Given the description of an element on the screen output the (x, y) to click on. 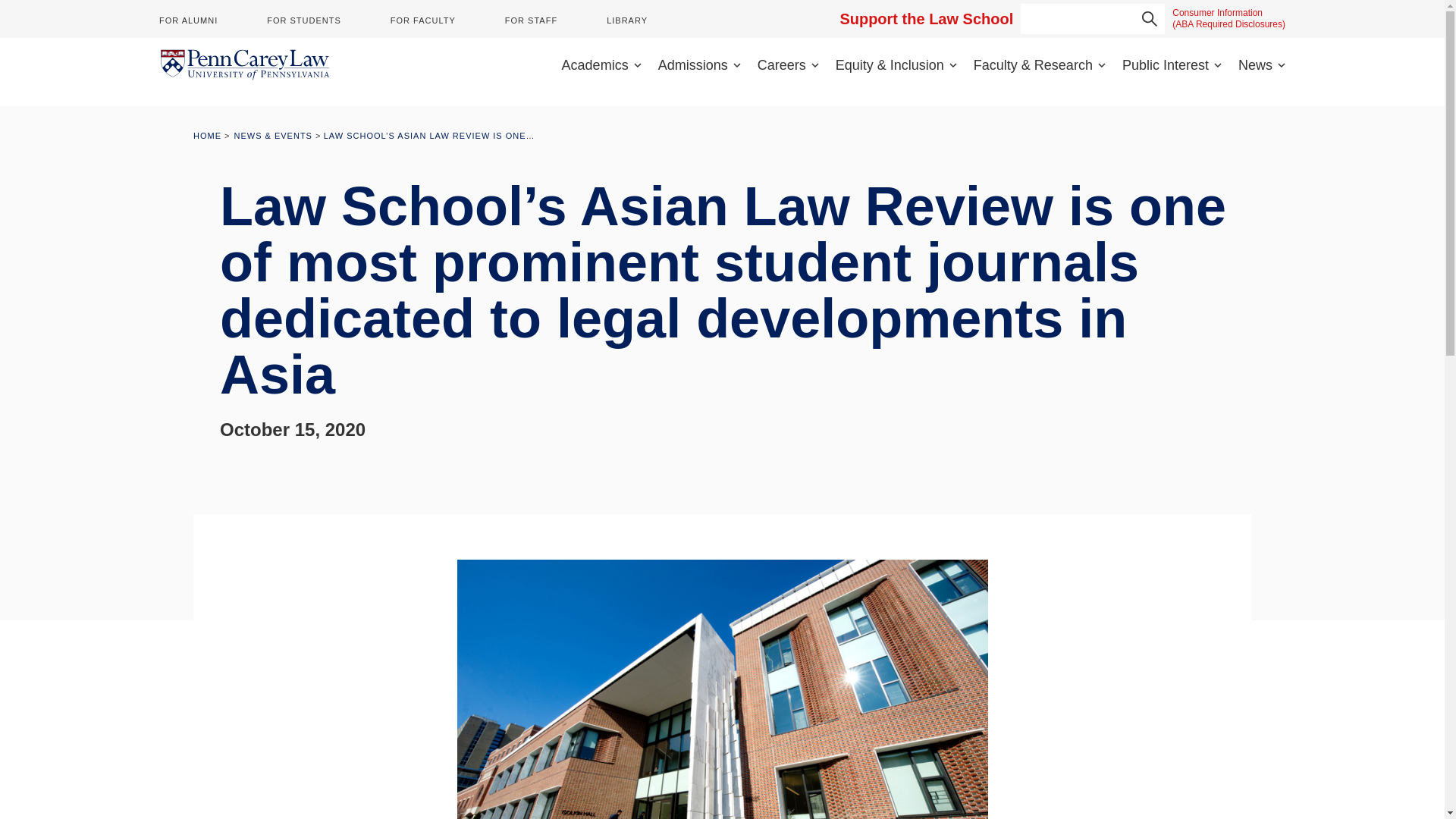
FOR ALUMNI (187, 20)
FOR STAFF (531, 20)
Submit (1149, 19)
FOR STUDENTS (303, 20)
Admissions (699, 64)
Careers (787, 64)
FOR FACULTY (422, 20)
Support the Law School (926, 18)
Submit (1149, 19)
Academics (602, 64)
